Given the description of an element on the screen output the (x, y) to click on. 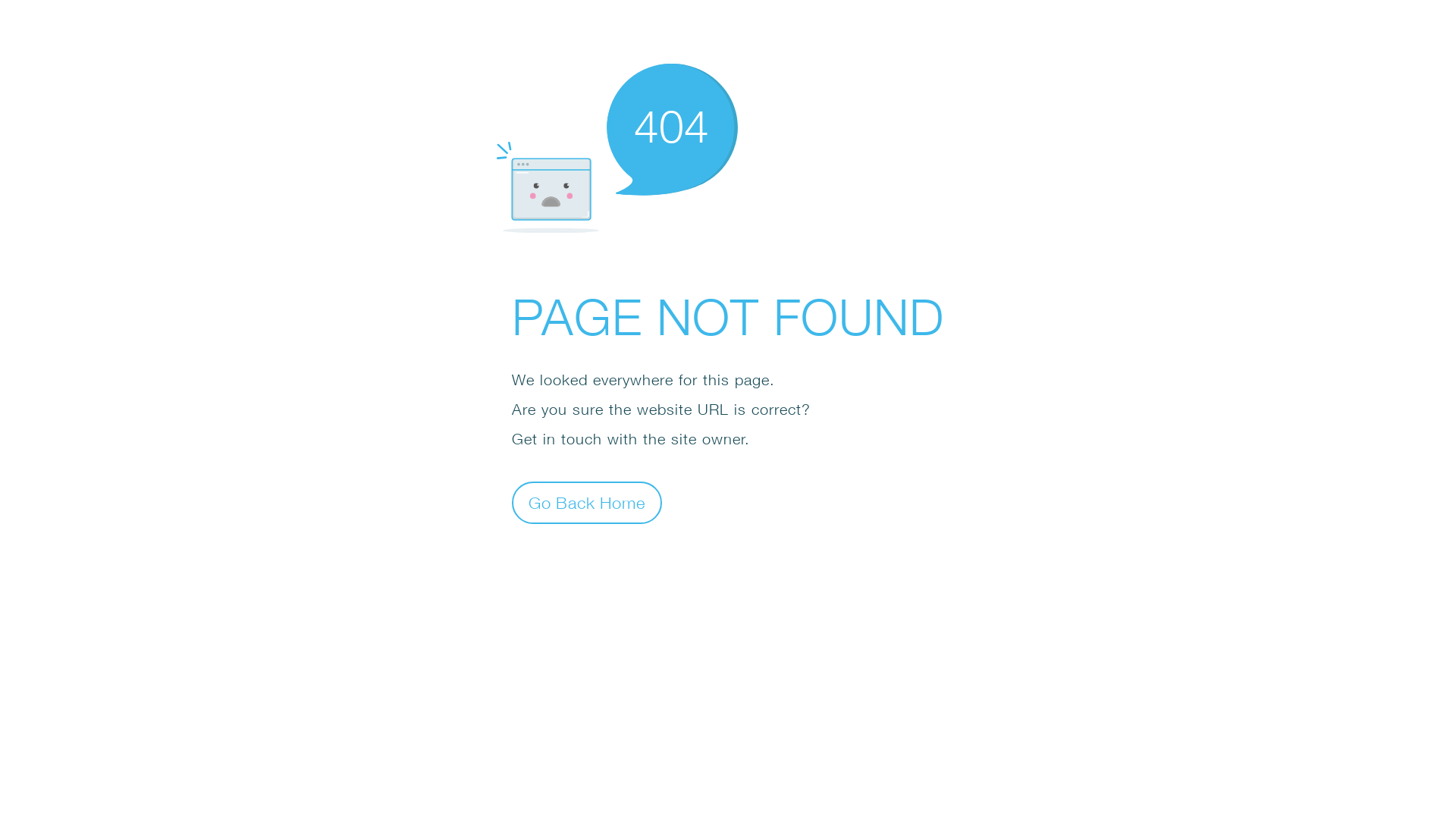
Go Back Home Element type: text (586, 502)
